Given the description of an element on the screen output the (x, y) to click on. 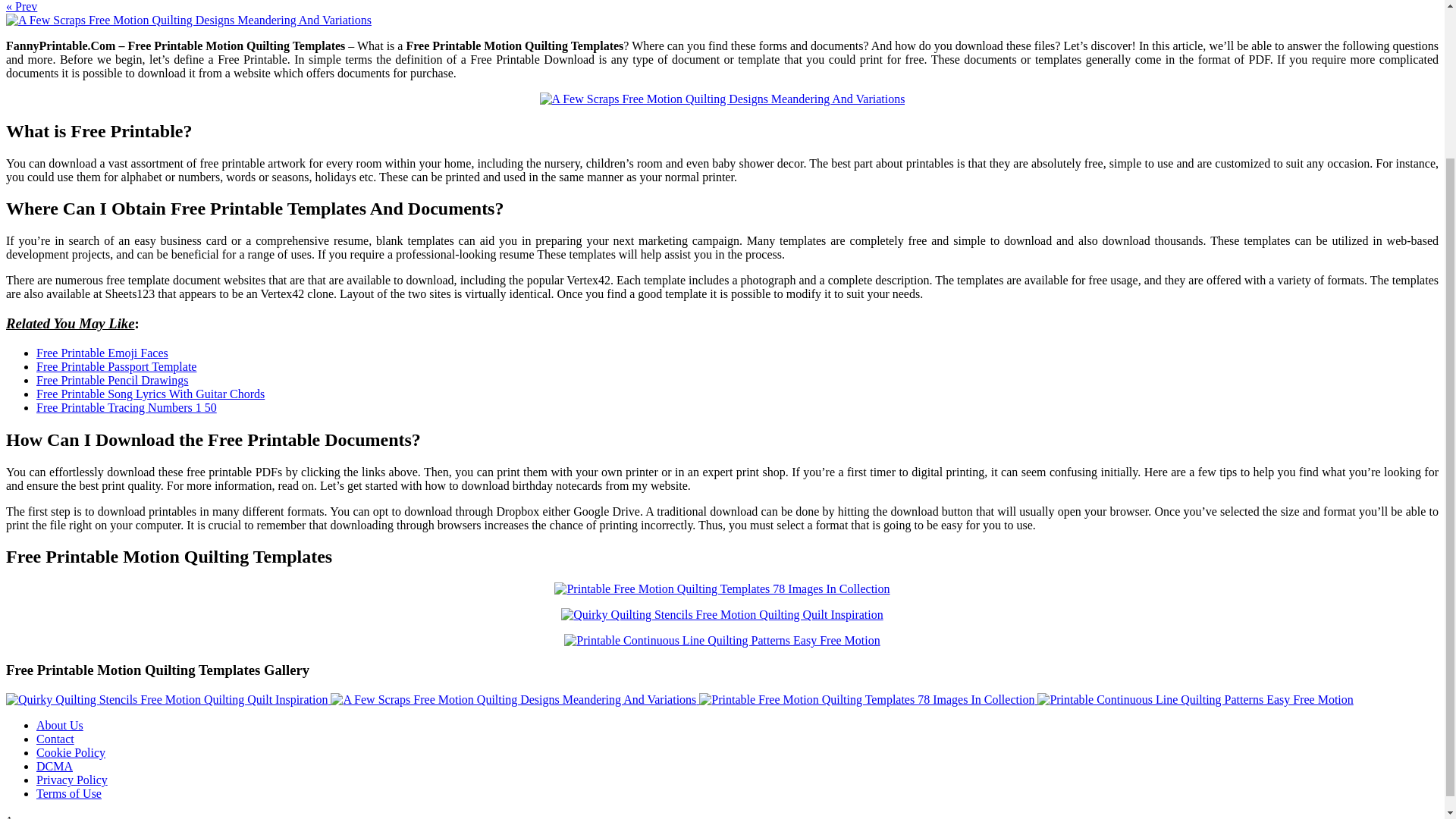
Free Printable Song Lyrics With Guitar Chords (150, 393)
printable continuous line quilting patterns easy free motion (721, 640)
Cookie Policy (70, 752)
Free Printable Pencil Drawings (111, 379)
Contact (55, 738)
Free Printable Tracing Numbers 1 50 (126, 407)
Terms of Use (68, 793)
About Us (59, 725)
Privacy Policy (71, 779)
Free Printable Emoji Faces (102, 352)
